Given the description of an element on the screen output the (x, y) to click on. 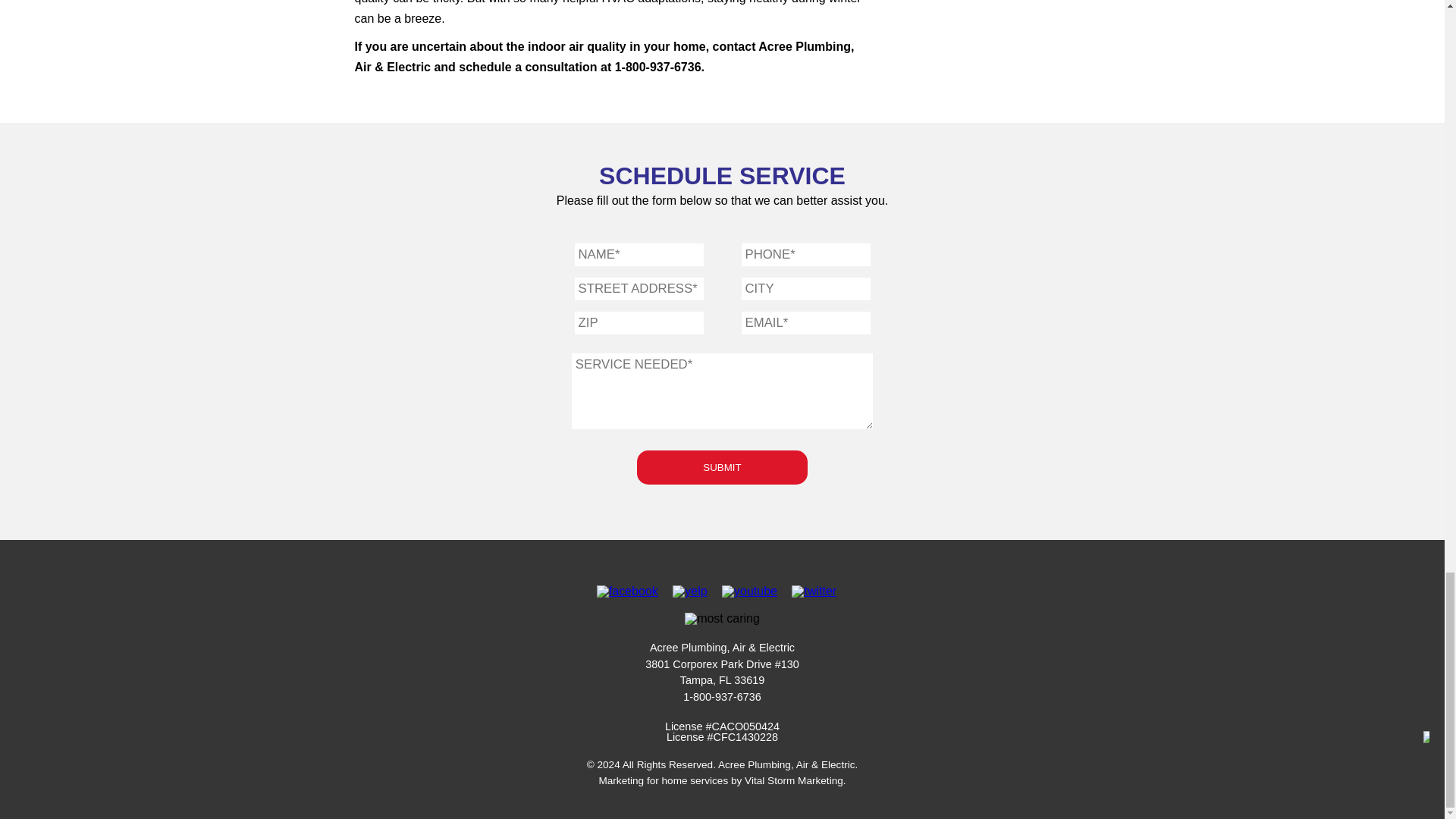
twitter (813, 591)
yelp (689, 591)
SUBMIT (722, 467)
facebook (627, 591)
youtube (749, 591)
